Given the description of an element on the screen output the (x, y) to click on. 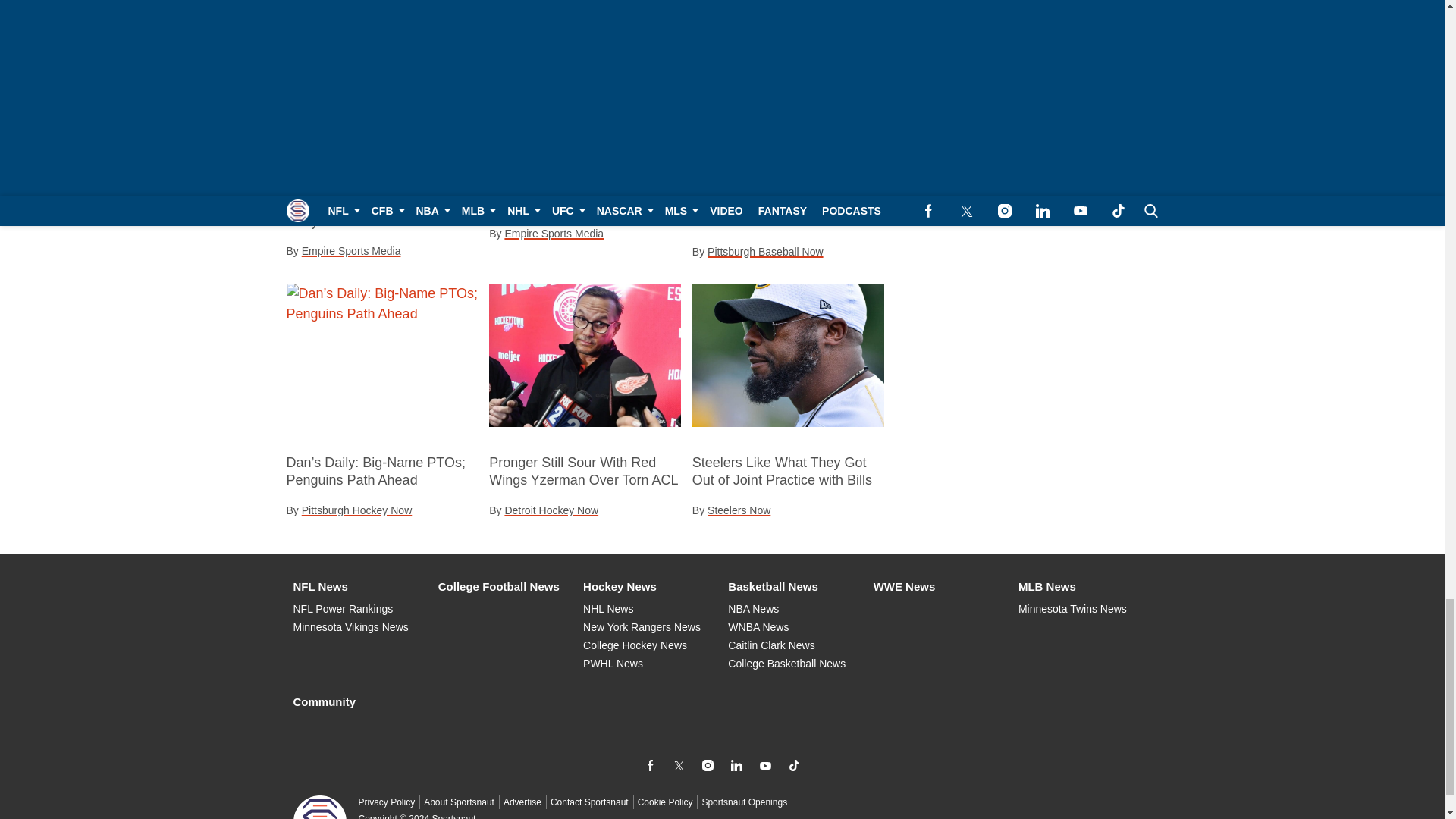
Subscribe to our YouTube channel (765, 765)
Follow us on Instagram (707, 765)
Follow us on Facebook (650, 765)
Follow us on Twitter (678, 765)
Connect with us on LinkedIn (736, 765)
Connect with us on TikTok (794, 765)
